Given the description of an element on the screen output the (x, y) to click on. 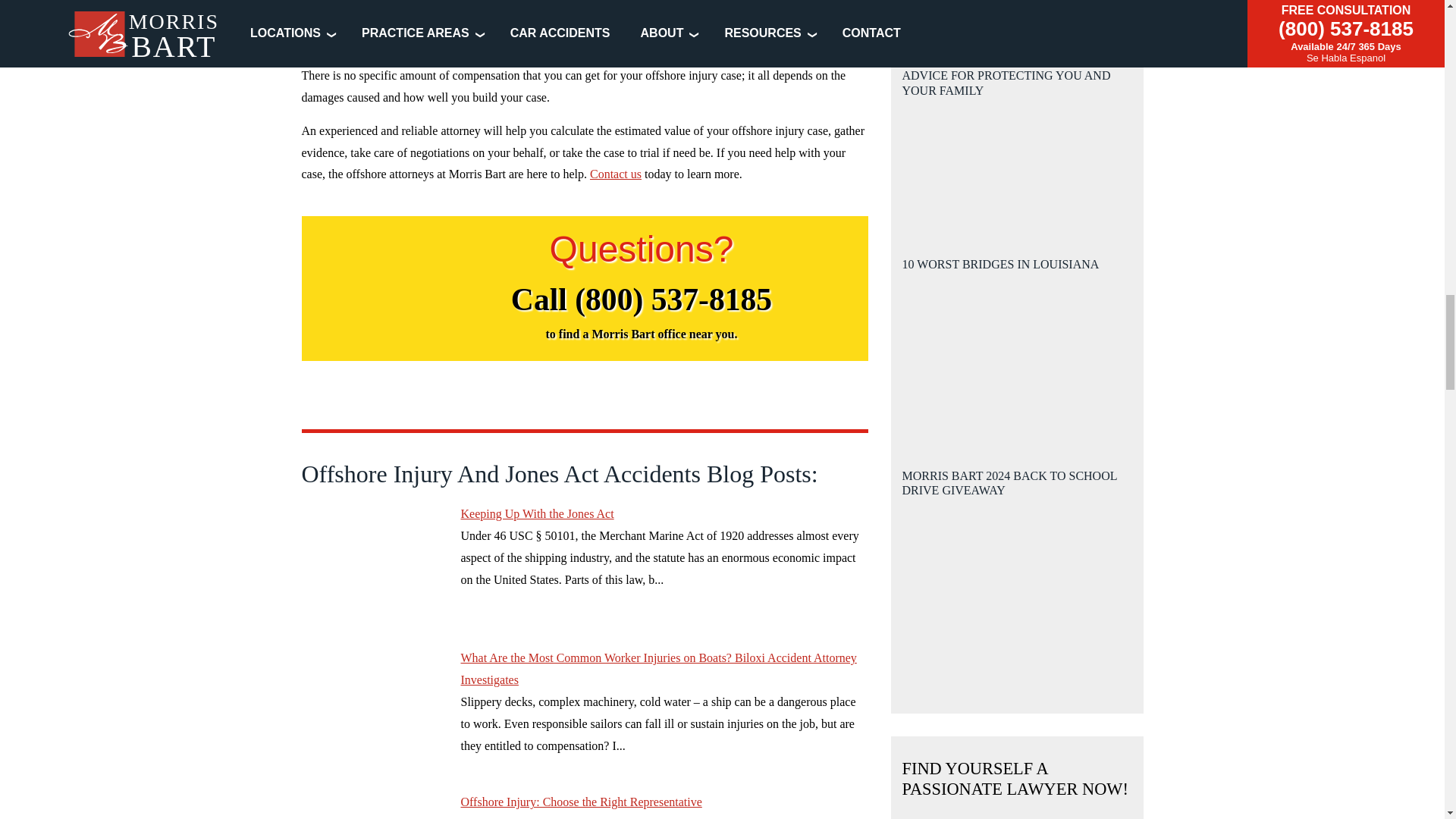
10 Worst Bridges in Louisiana (1017, 339)
10 Worst Bridges in Louisiana (1015, 358)
Offshore Injury: Choose the Right Representative (373, 805)
Keeping Up With the Jones Act (373, 560)
Morris Bart 2024 Back to School Drive Giveaway (1017, 568)
Morris Bart 2024 Back to School Drive Giveaway (1015, 593)
